Given the description of an element on the screen output the (x, y) to click on. 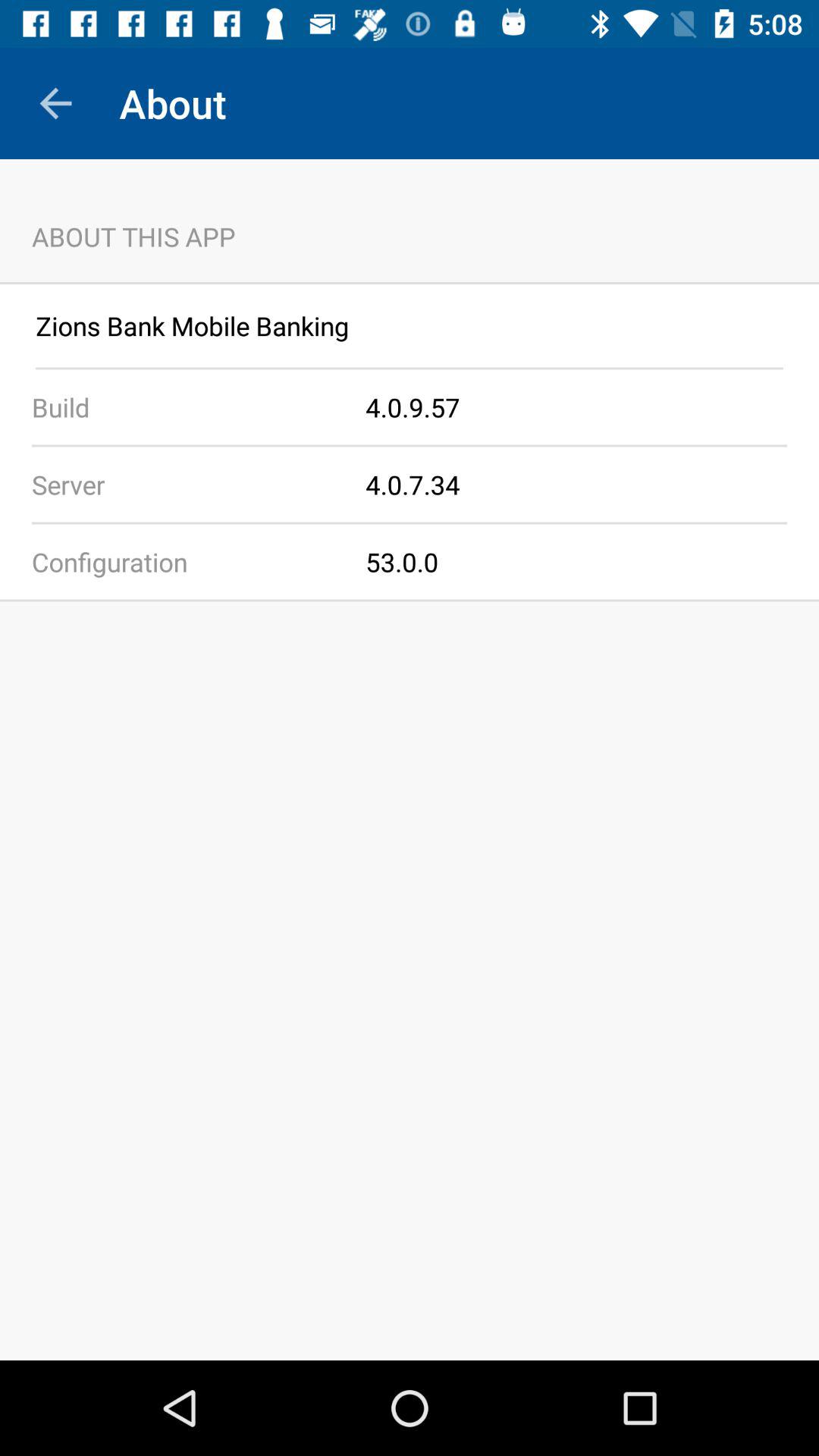
press build app (182, 406)
